Given the description of an element on the screen output the (x, y) to click on. 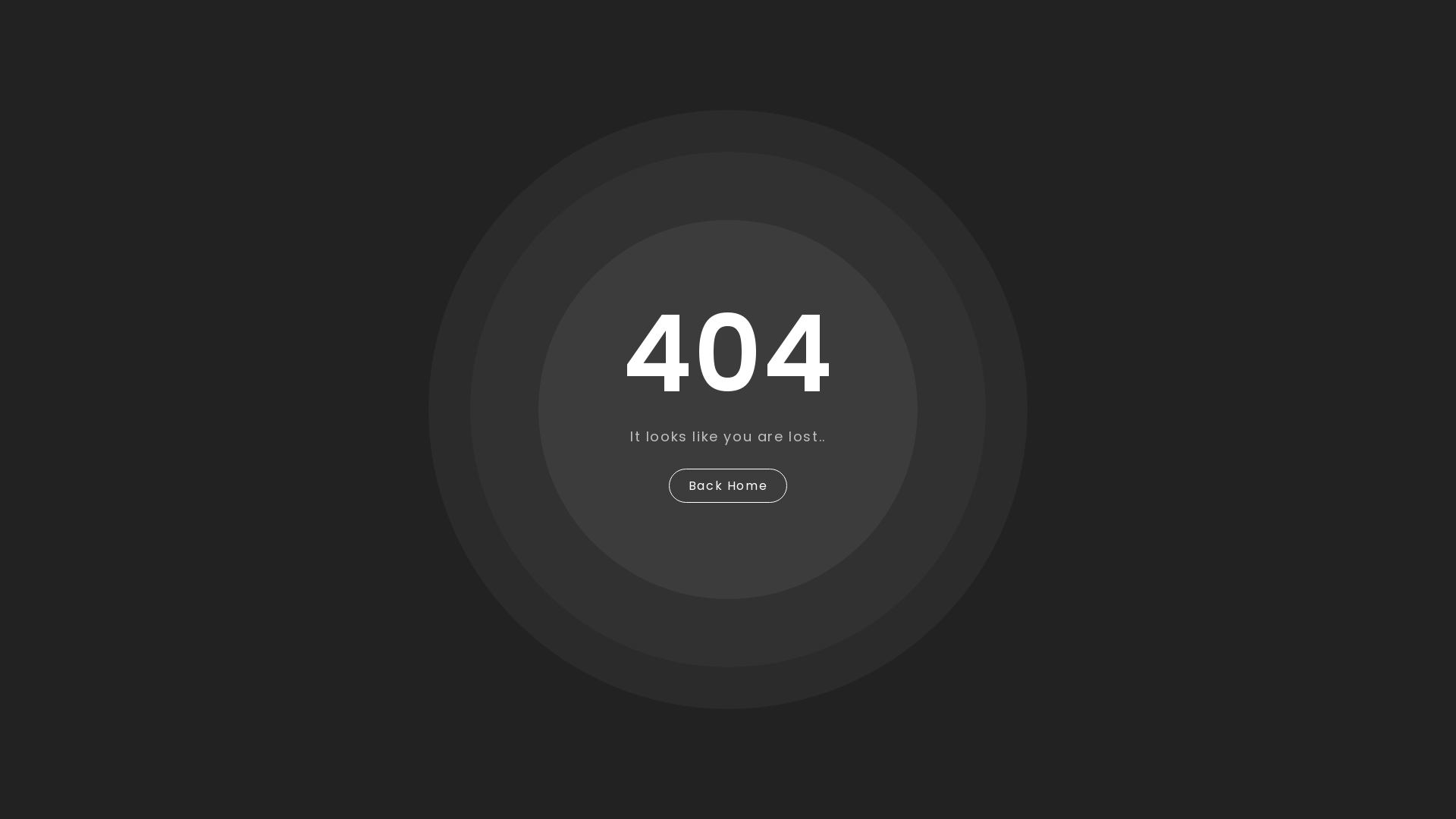
Back Home Element type: text (727, 485)
